Given the description of an element on the screen output the (x, y) to click on. 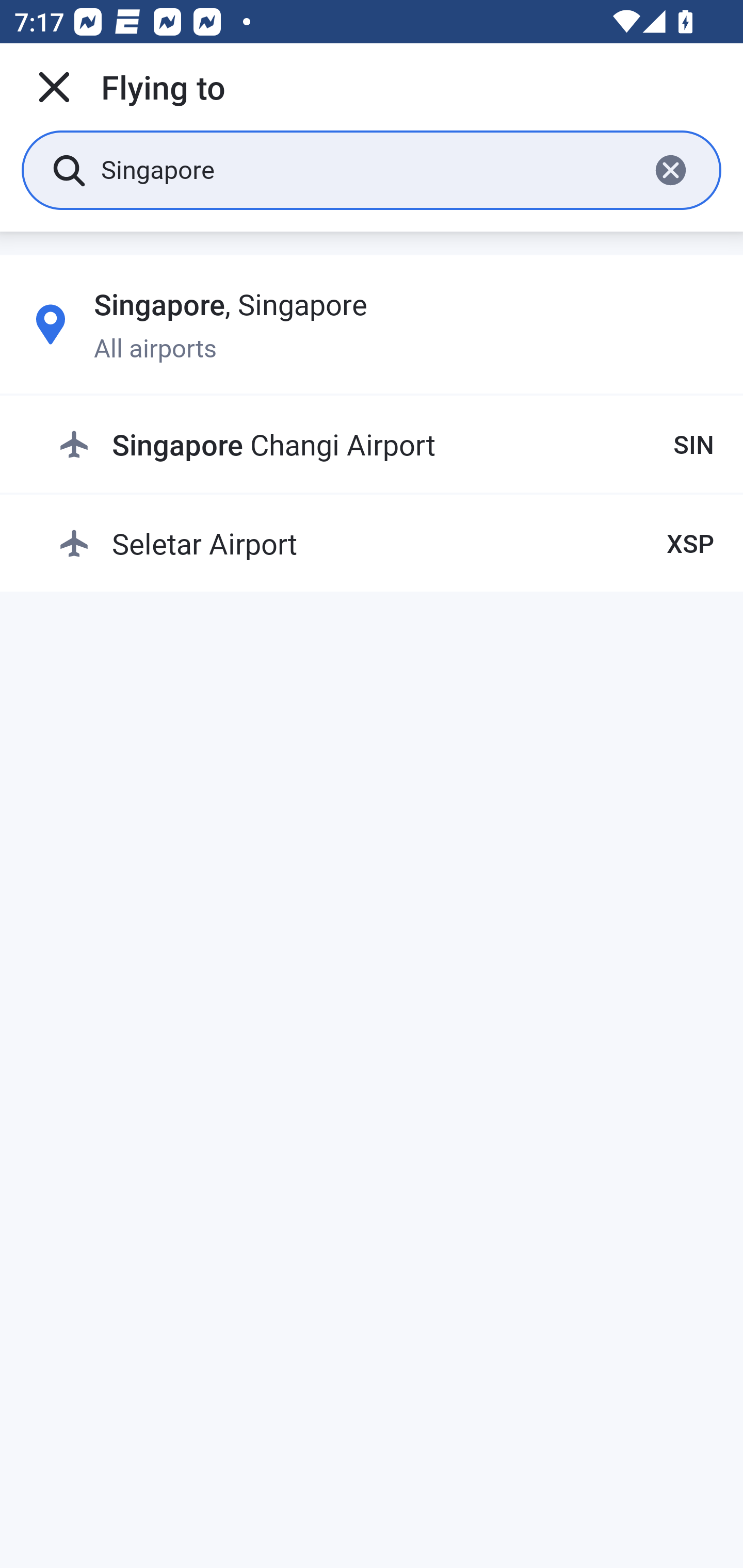
Singapore (367, 169)
Singapore, Singapore All airports (371, 324)
Singapore Changi Airport SIN (385, 444)
Seletar Airport XSP (385, 543)
